Given the description of an element on the screen output the (x, y) to click on. 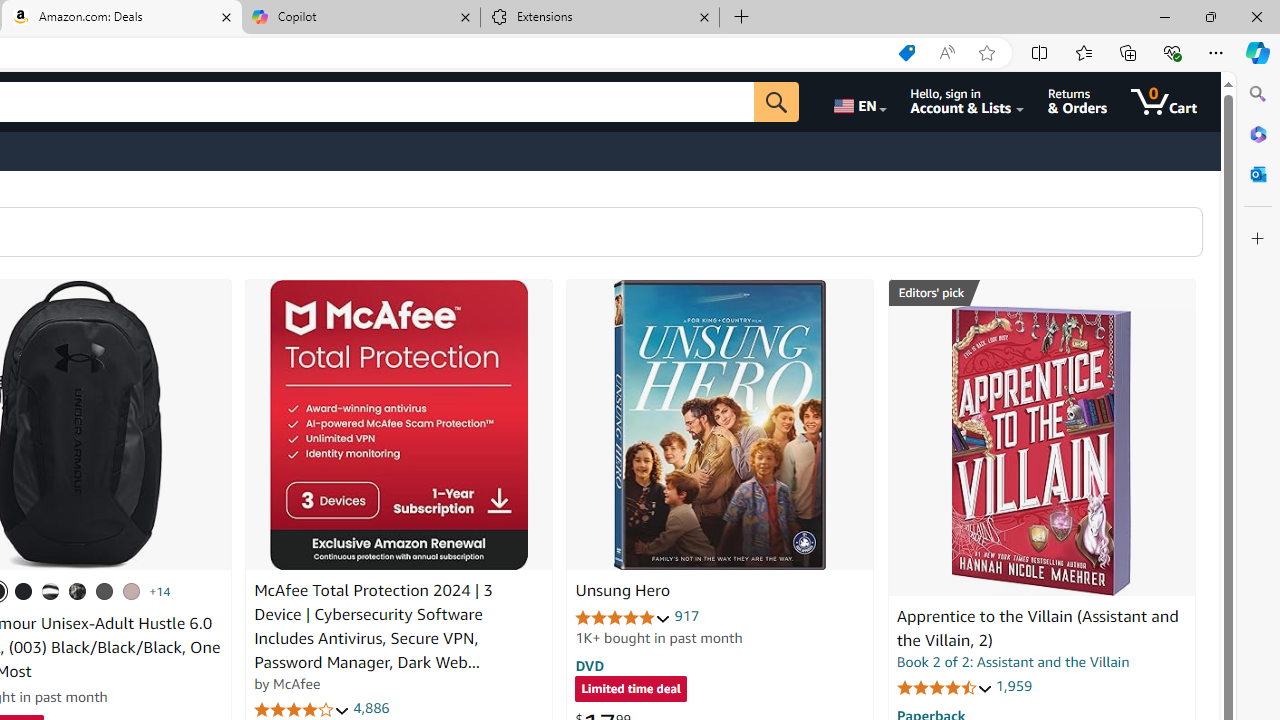
Restore (1210, 16)
Customize (1258, 239)
4.1 out of 5 stars (301, 709)
Returns & Orders (1077, 101)
Unsung Hero (622, 591)
Browser essentials (1171, 52)
Split screen (1039, 52)
4,886 (371, 708)
Unsung Hero (720, 425)
(005) Black Full Heather / Black / Metallic Gold (104, 591)
New Tab (742, 17)
Close Outlook pane (1258, 174)
(001) Black / Black / Metallic Gold (24, 591)
Go (776, 101)
